Given the description of an element on the screen output the (x, y) to click on. 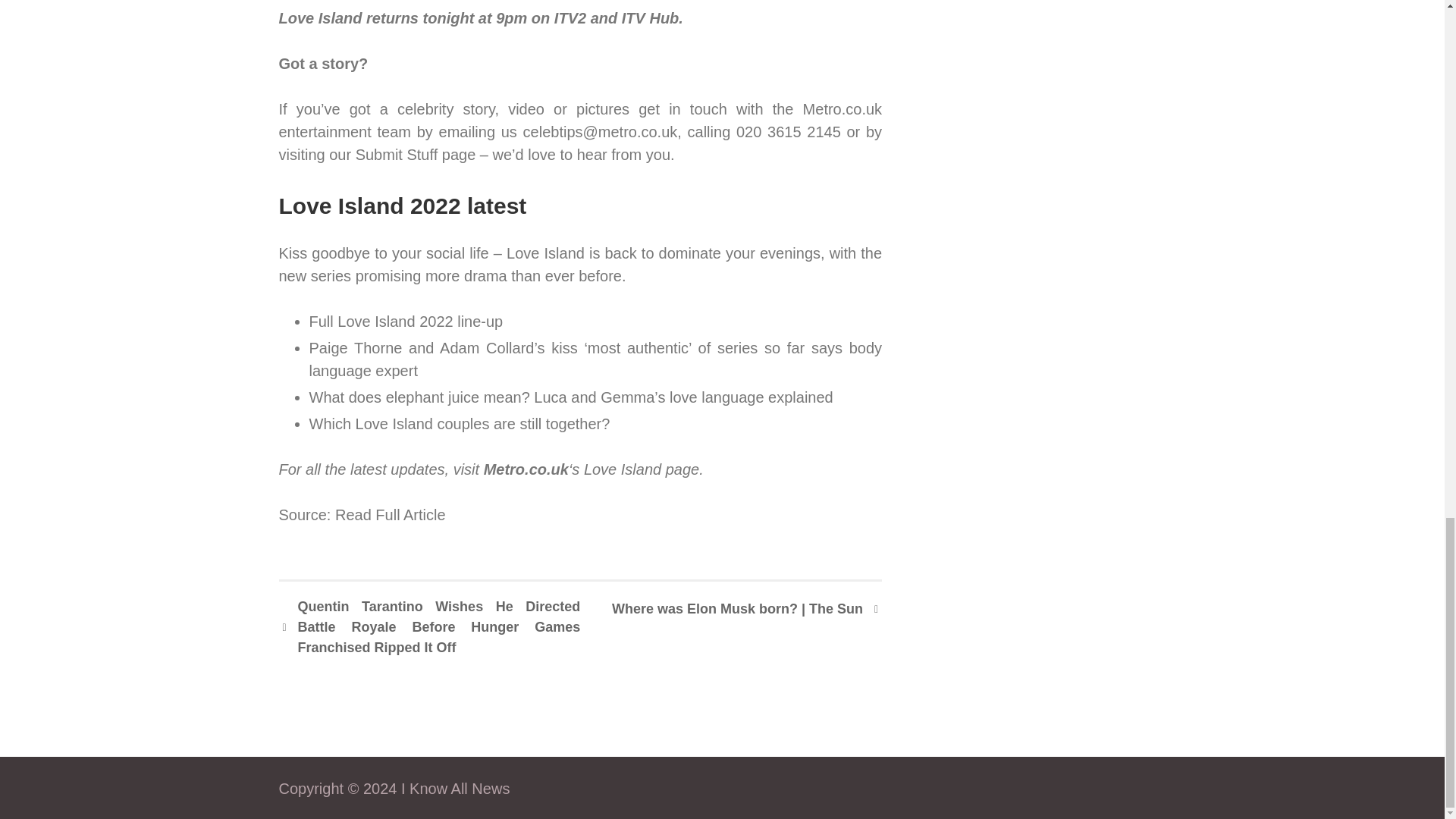
Read Full Article (389, 514)
